Given the description of an element on the screen output the (x, y) to click on. 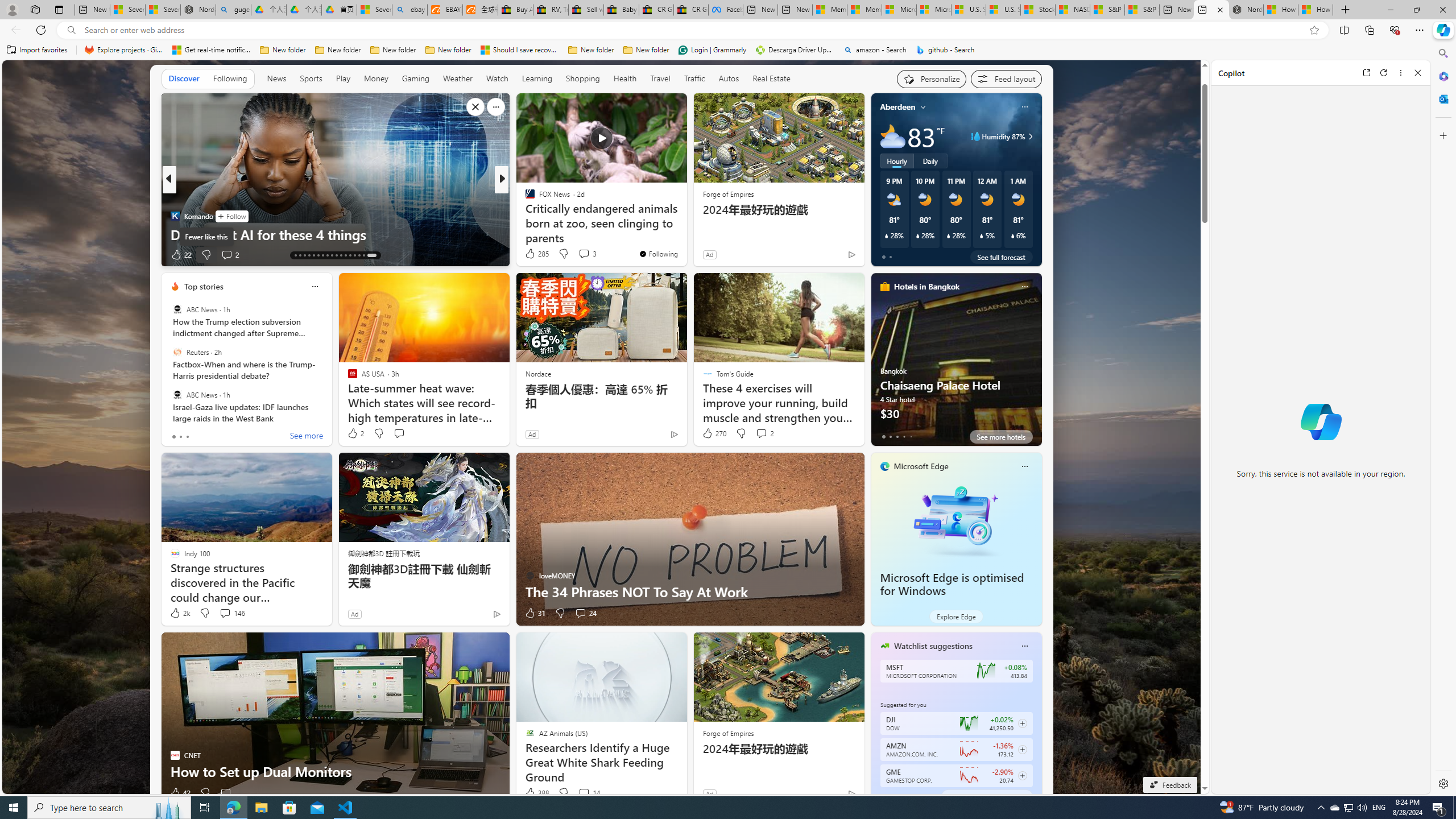
Microsoft 365 (1442, 76)
Class: weather-arrow-glyph (1029, 136)
Play (342, 79)
AutomationID: tab-19 (322, 255)
Facebook (725, 9)
Traffic (694, 78)
AutomationID: tab-21 (331, 255)
